Given the description of an element on the screen output the (x, y) to click on. 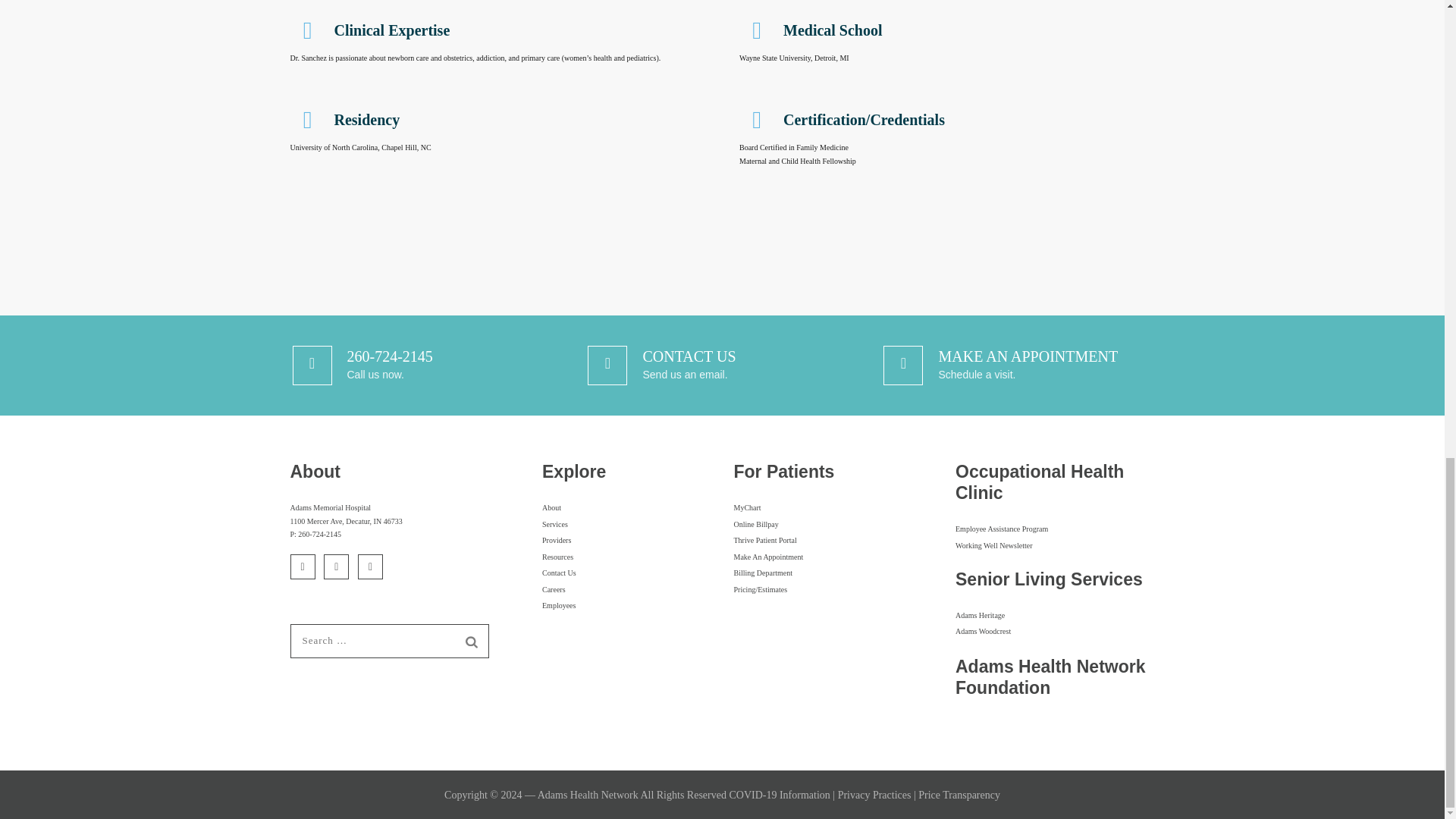
Search (471, 641)
Search (471, 641)
